Given the description of an element on the screen output the (x, y) to click on. 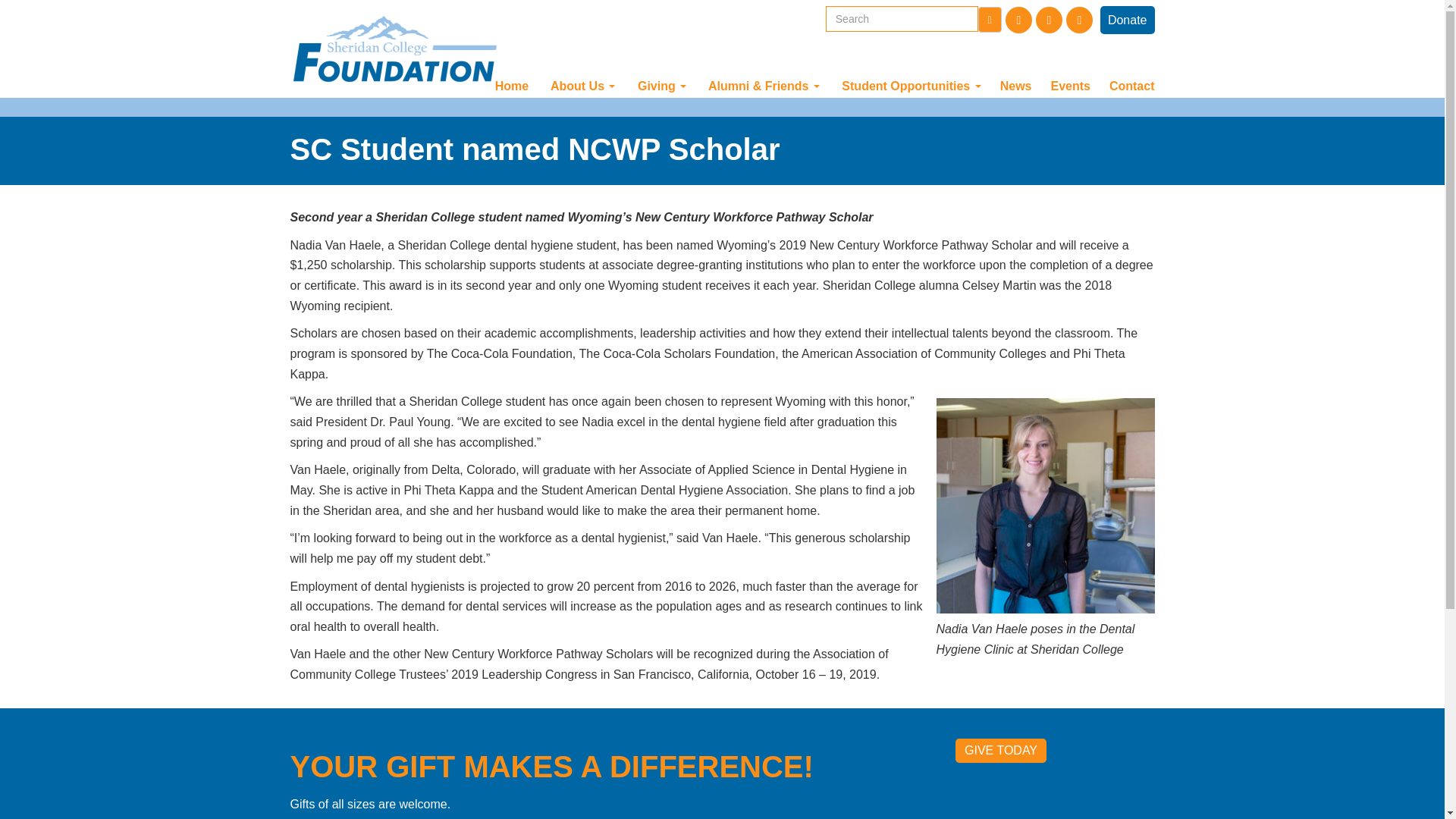
Home (513, 86)
Donate (1127, 19)
Home (513, 86)
 About Us (583, 86)
Giving (661, 86)
About Us (583, 86)
 Giving (661, 86)
 Student Opportunities (911, 86)
News (1017, 86)
